Given the description of an element on the screen output the (x, y) to click on. 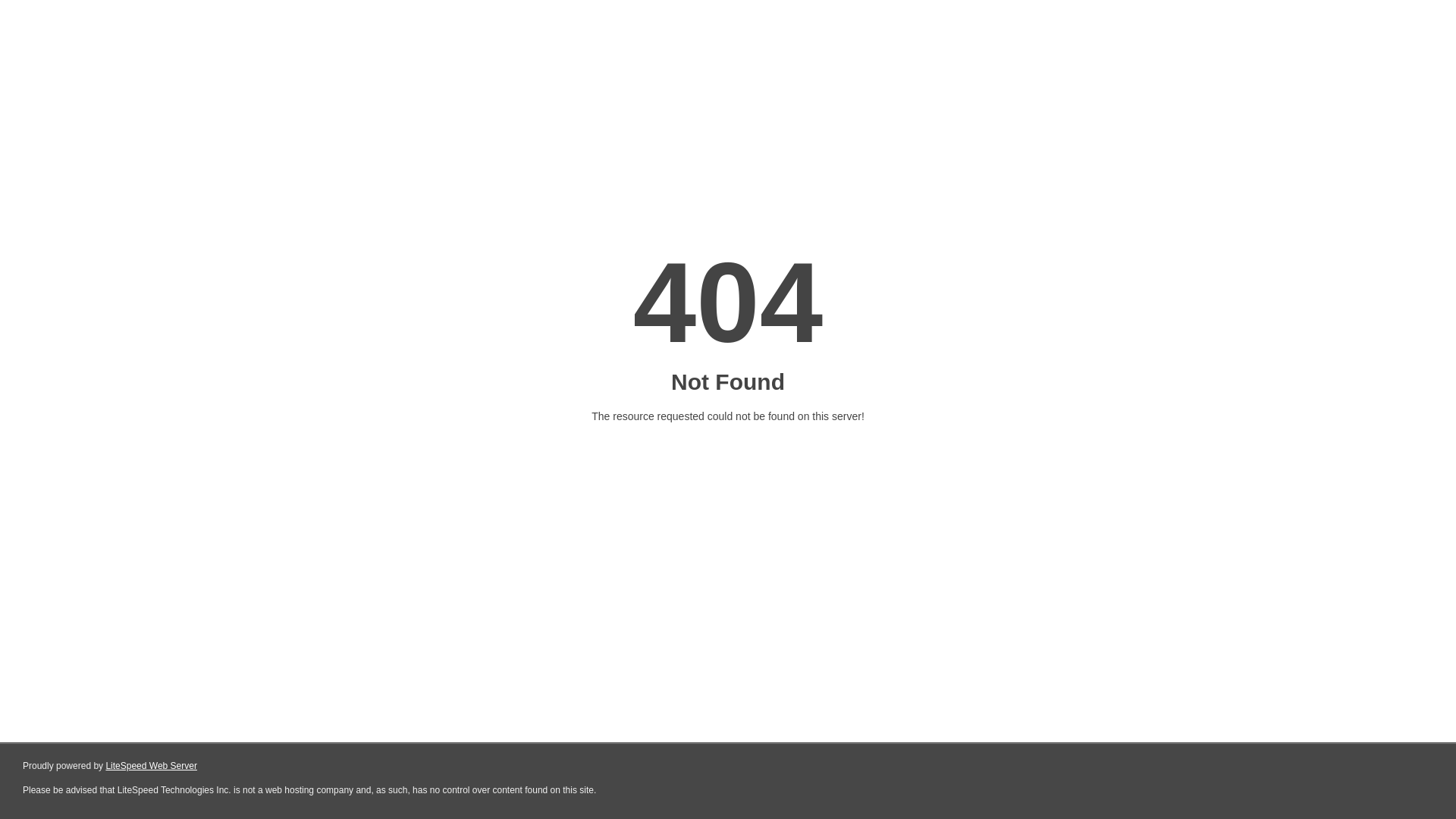
LiteSpeed Web Server Element type: text (151, 765)
